Given the description of an element on the screen output the (x, y) to click on. 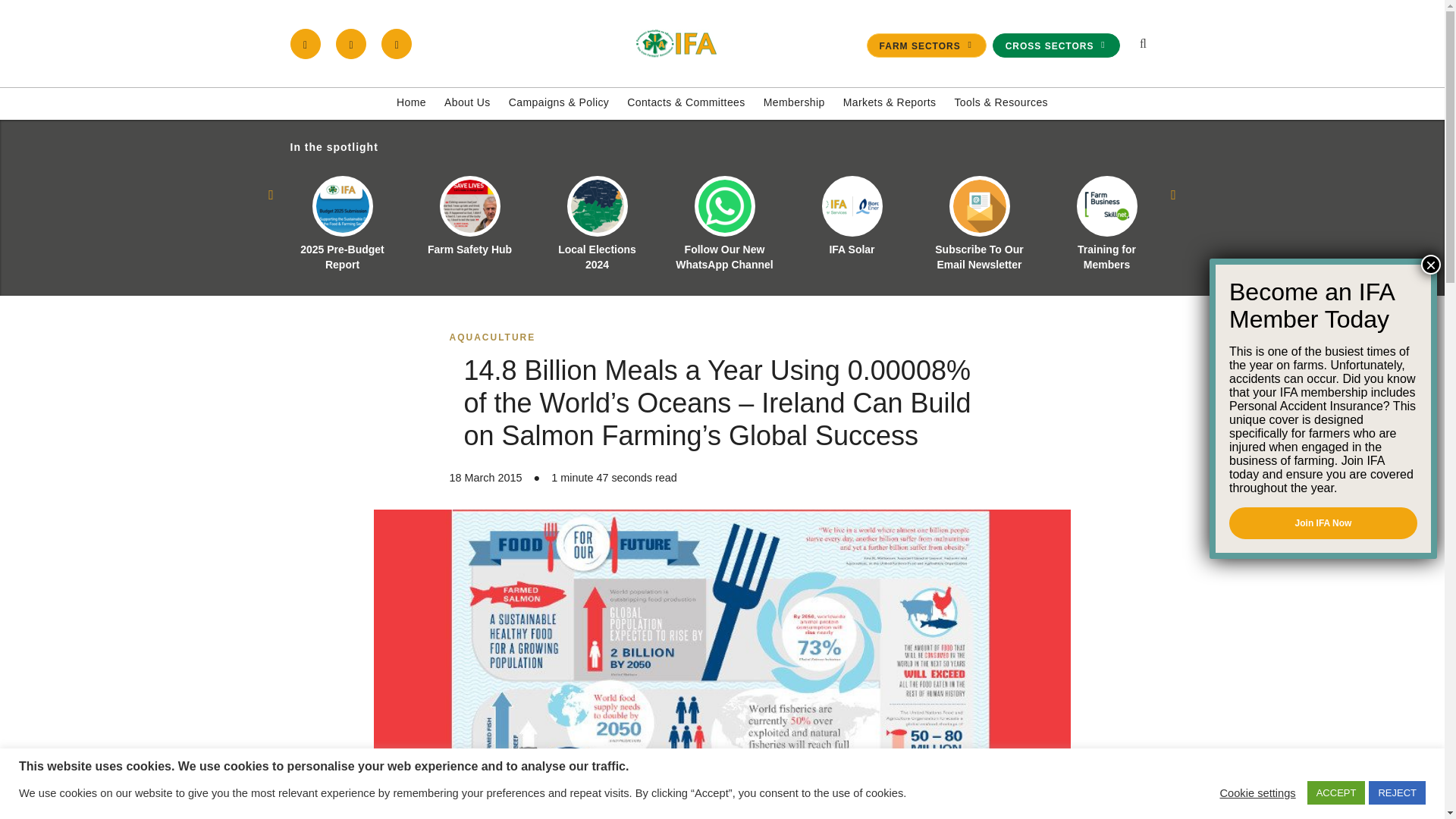
Search (1070, 210)
FARM SECTORS (926, 45)
CROSS SECTORS (1055, 45)
Follow IFA on Twitter (351, 43)
About Us (467, 103)
Home (411, 103)
Get the official IFA App (396, 43)
Follow IFA on Facebook (304, 43)
